Given the description of an element on the screen output the (x, y) to click on. 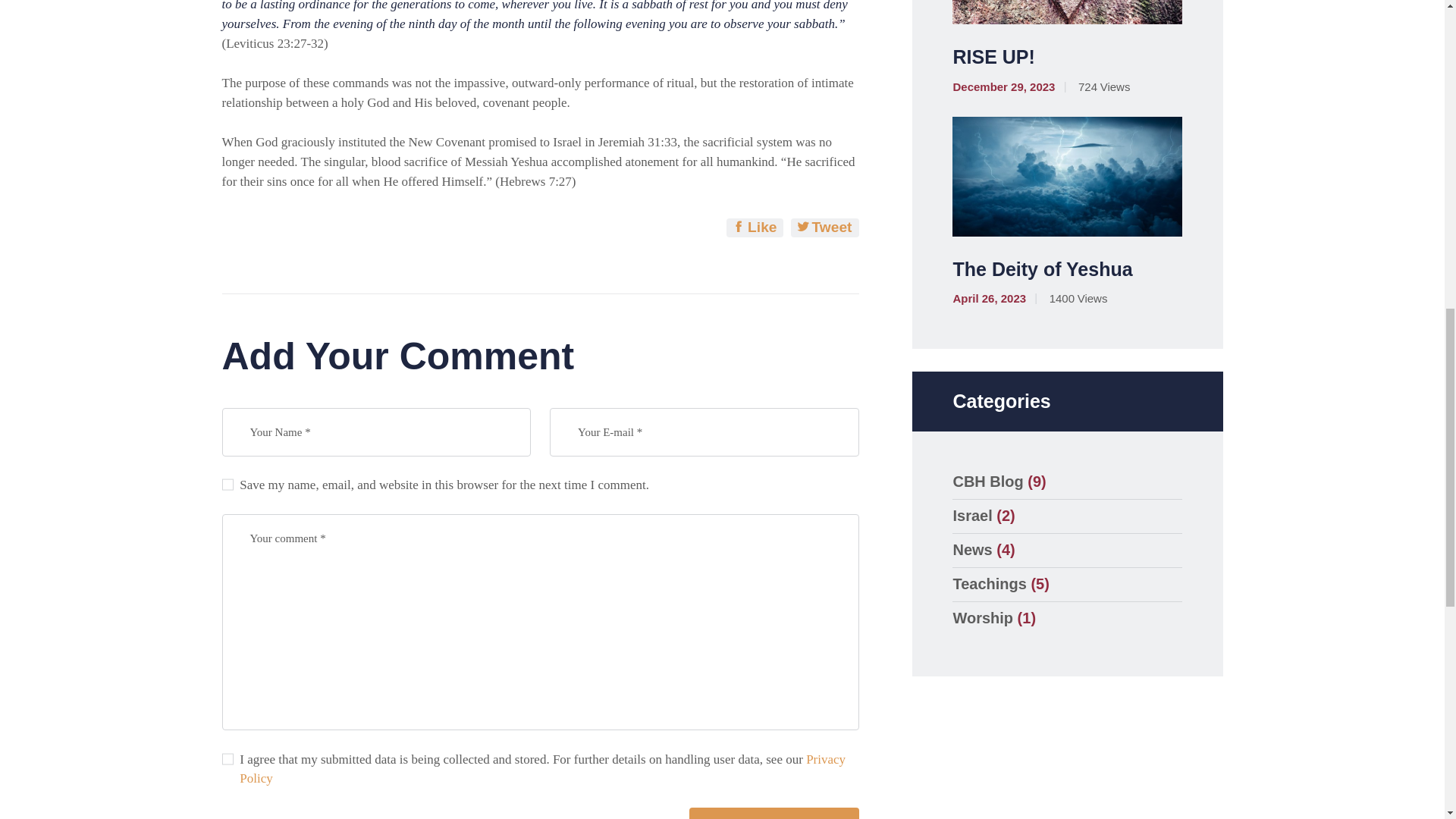
Add Comment (773, 813)
